Given the description of an element on the screen output the (x, y) to click on. 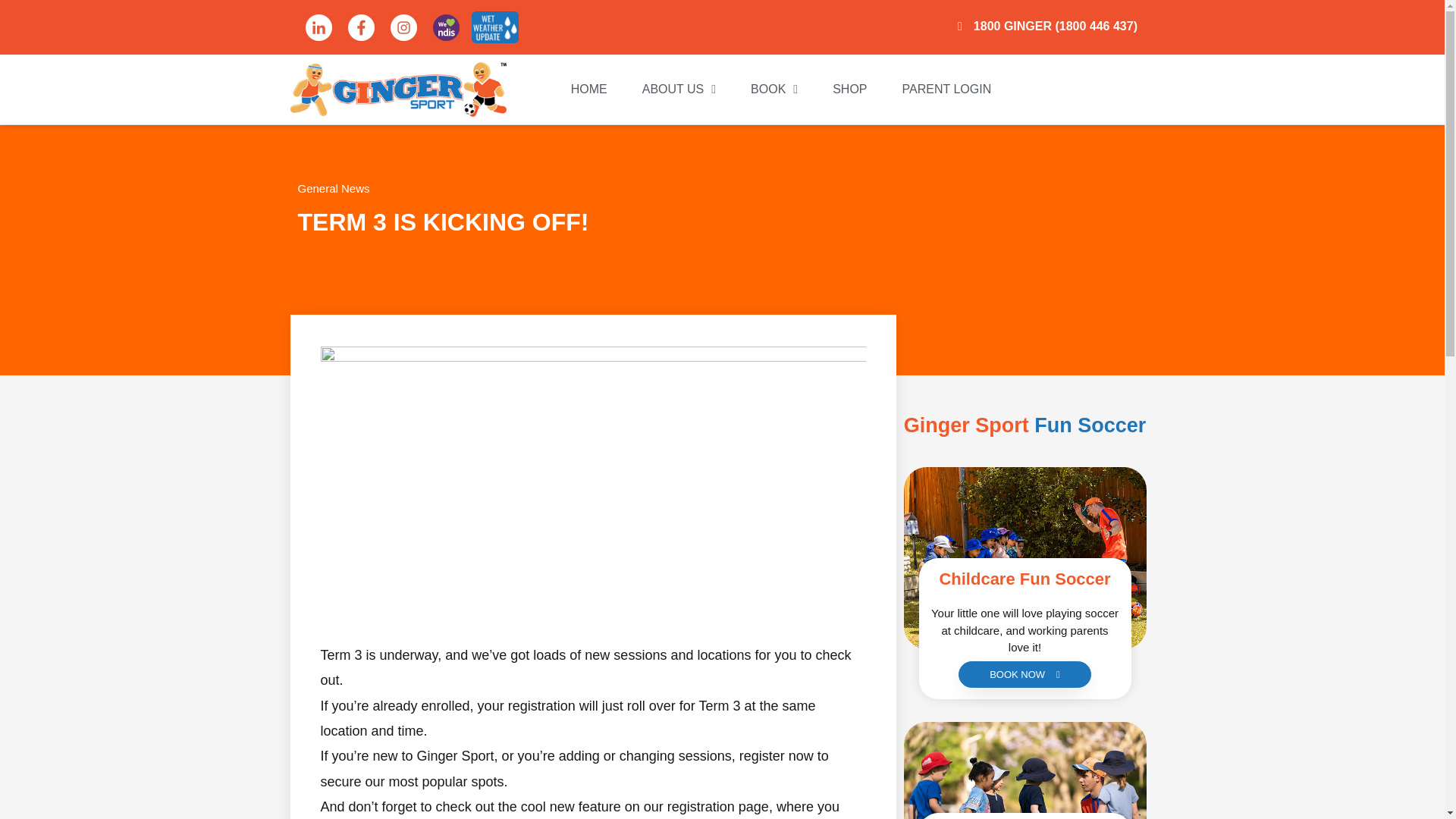
we love ndis (446, 27)
ABOUT US (678, 89)
PARENT LOGIN (946, 89)
facebook-icon-300px (360, 27)
SHOP (849, 89)
HOME (589, 89)
instagram-icon-300px (403, 27)
linkedin-icon-300px (318, 27)
BOOK (773, 89)
